Given the description of an element on the screen output the (x, y) to click on. 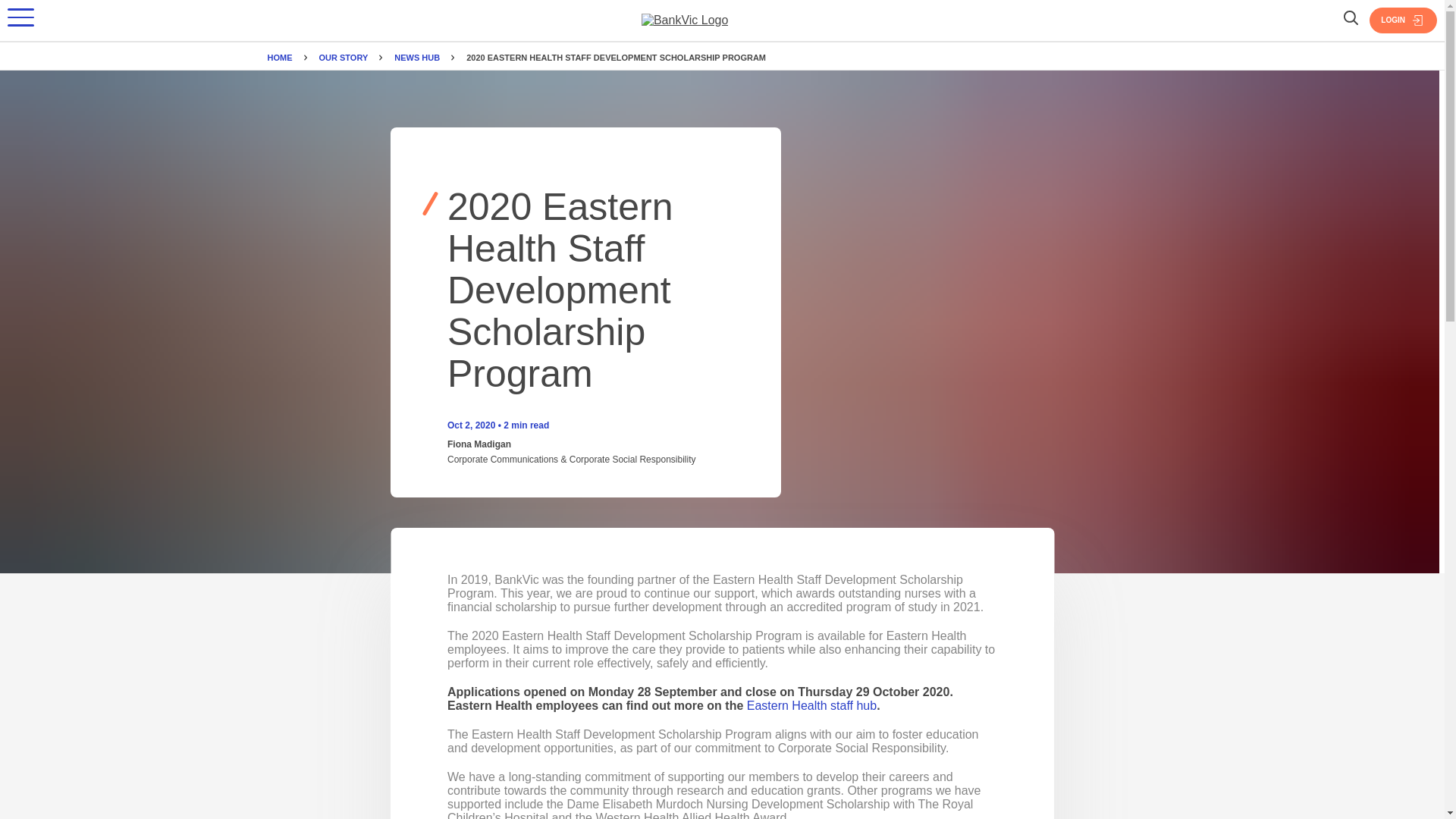
LOGIN (1403, 20)
